Given the description of an element on the screen output the (x, y) to click on. 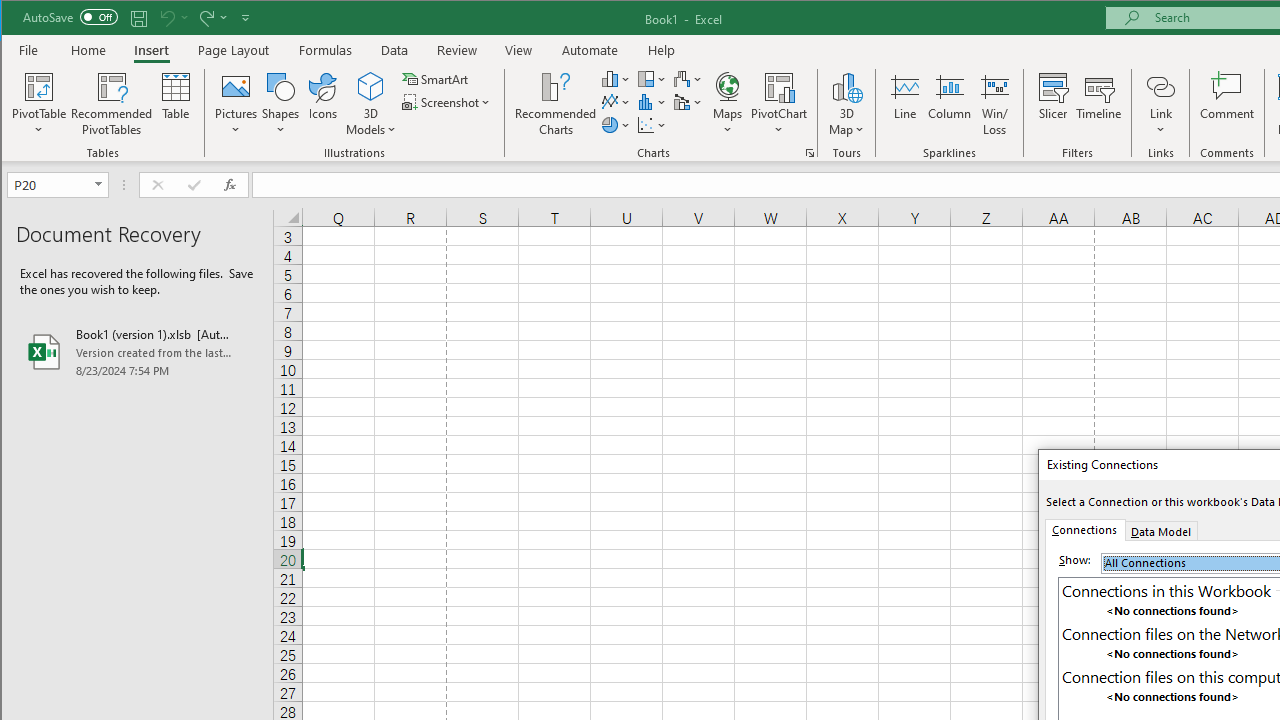
Insert Waterfall, Funnel, Stock, Surface, or Radar Chart (688, 78)
Insert Statistic Chart (652, 101)
Icons (323, 104)
Line (904, 104)
Timeline (1098, 104)
Screenshot (447, 101)
Recommended PivotTables (111, 104)
